Given the description of an element on the screen output the (x, y) to click on. 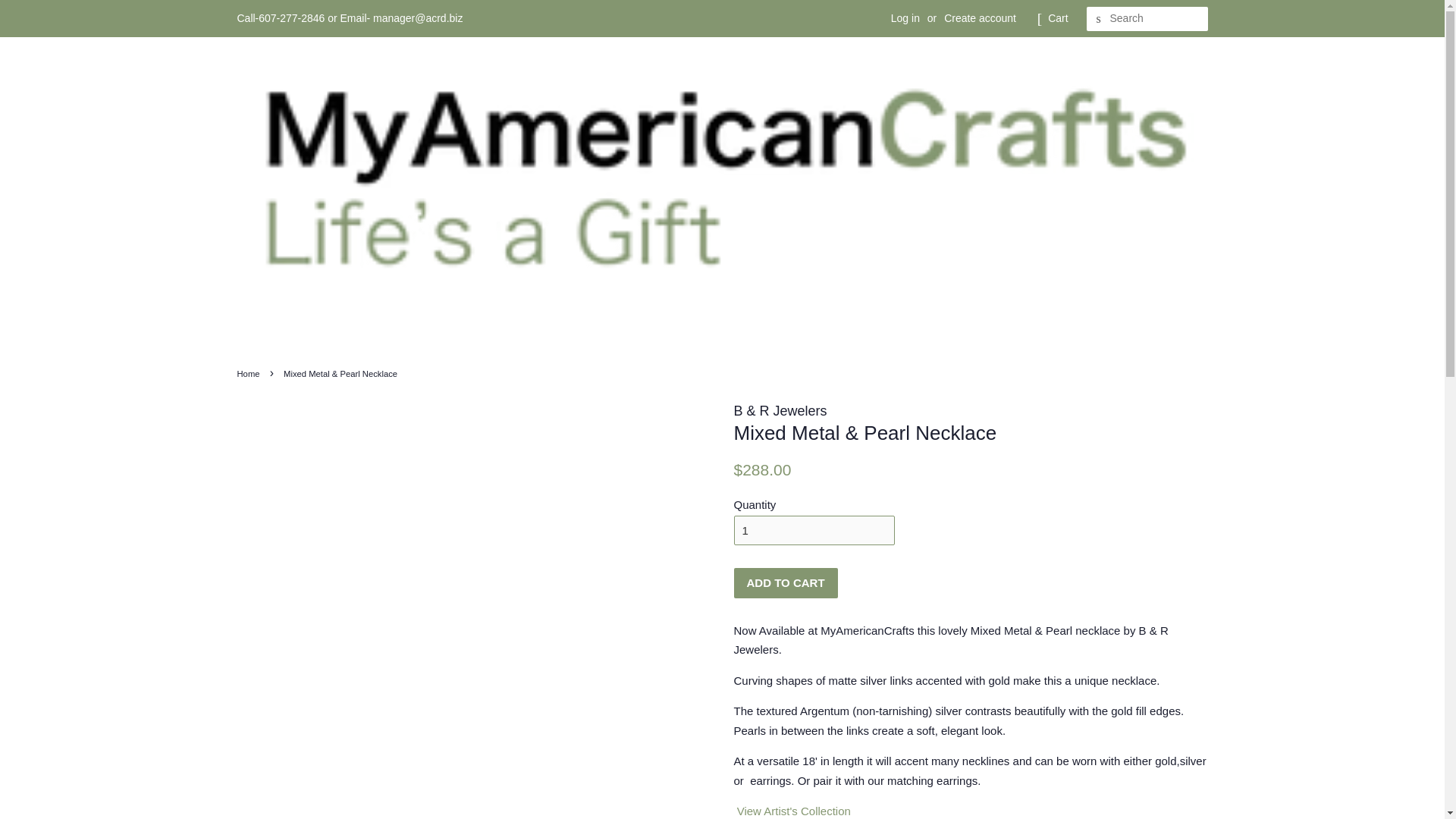
Log in (905, 18)
1 (814, 530)
Cart (1057, 18)
Back to the frontpage (249, 373)
SEARCH (1097, 18)
Create account (979, 18)
